Given the description of an element on the screen output the (x, y) to click on. 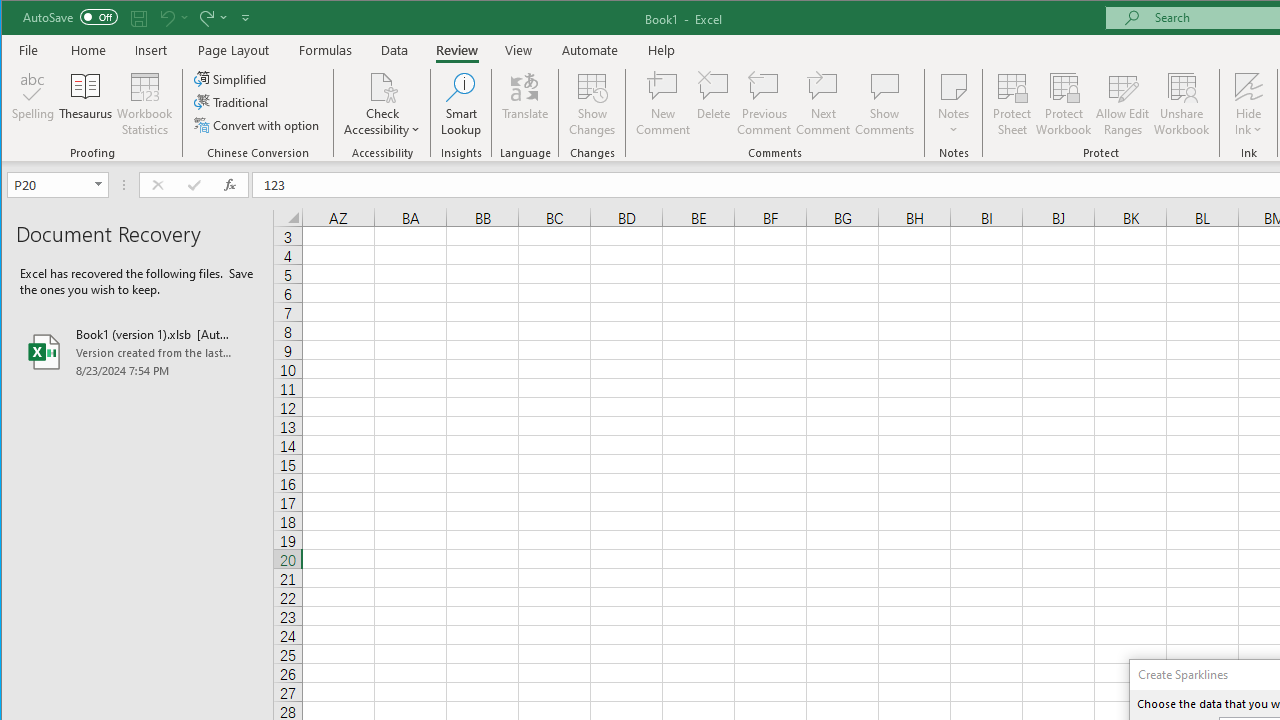
Traditional (232, 101)
Formulas (326, 50)
Notes (954, 104)
Hide Ink (1248, 104)
Workbook Statistics (145, 104)
Unshare Workbook (1182, 104)
Open (99, 184)
Allow Edit Ranges (1123, 104)
Simplified (231, 78)
Hide Ink (1248, 86)
Spelling... (33, 104)
More Options (1248, 123)
Check Accessibility (381, 104)
